Given the description of an element on the screen output the (x, y) to click on. 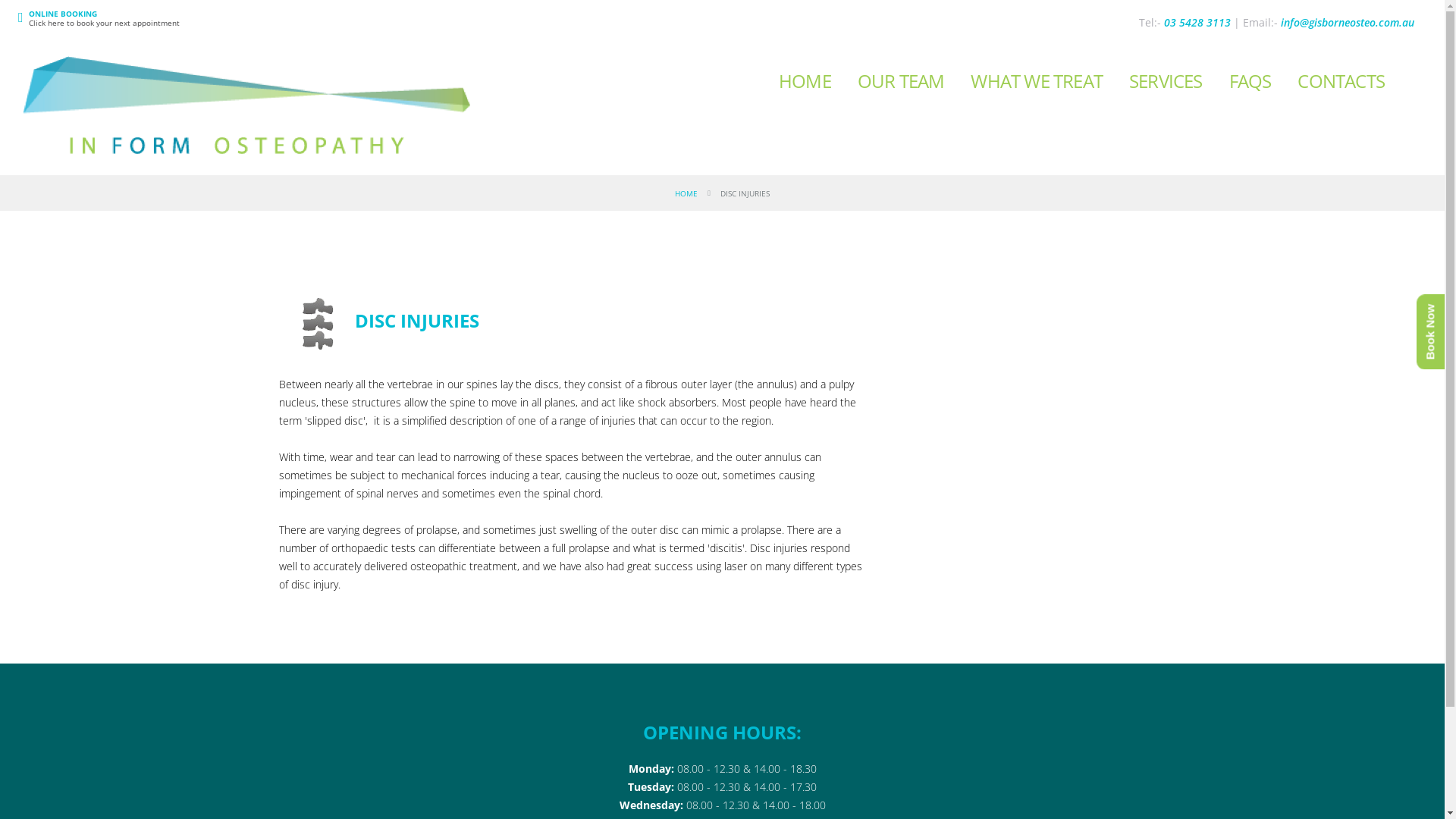
ONLINE BOOKING
Click here to book your next appointment Element type: text (103, 17)
CONTACTS Element type: text (1340, 79)
03 5428 3113 Element type: text (1197, 22)
HOME Element type: text (804, 79)
info@gisborneosteo.com.au Element type: text (1347, 22)
OUR TEAM Element type: text (900, 79)
WHAT WE TREAT Element type: text (1036, 79)
HOME Element type: text (685, 193)
Promoting Excellence in Osteopathic Care Element type: hover (246, 109)
SERVICES Element type: text (1165, 79)
FAQS Element type: text (1250, 79)
